Given the description of an element on the screen output the (x, y) to click on. 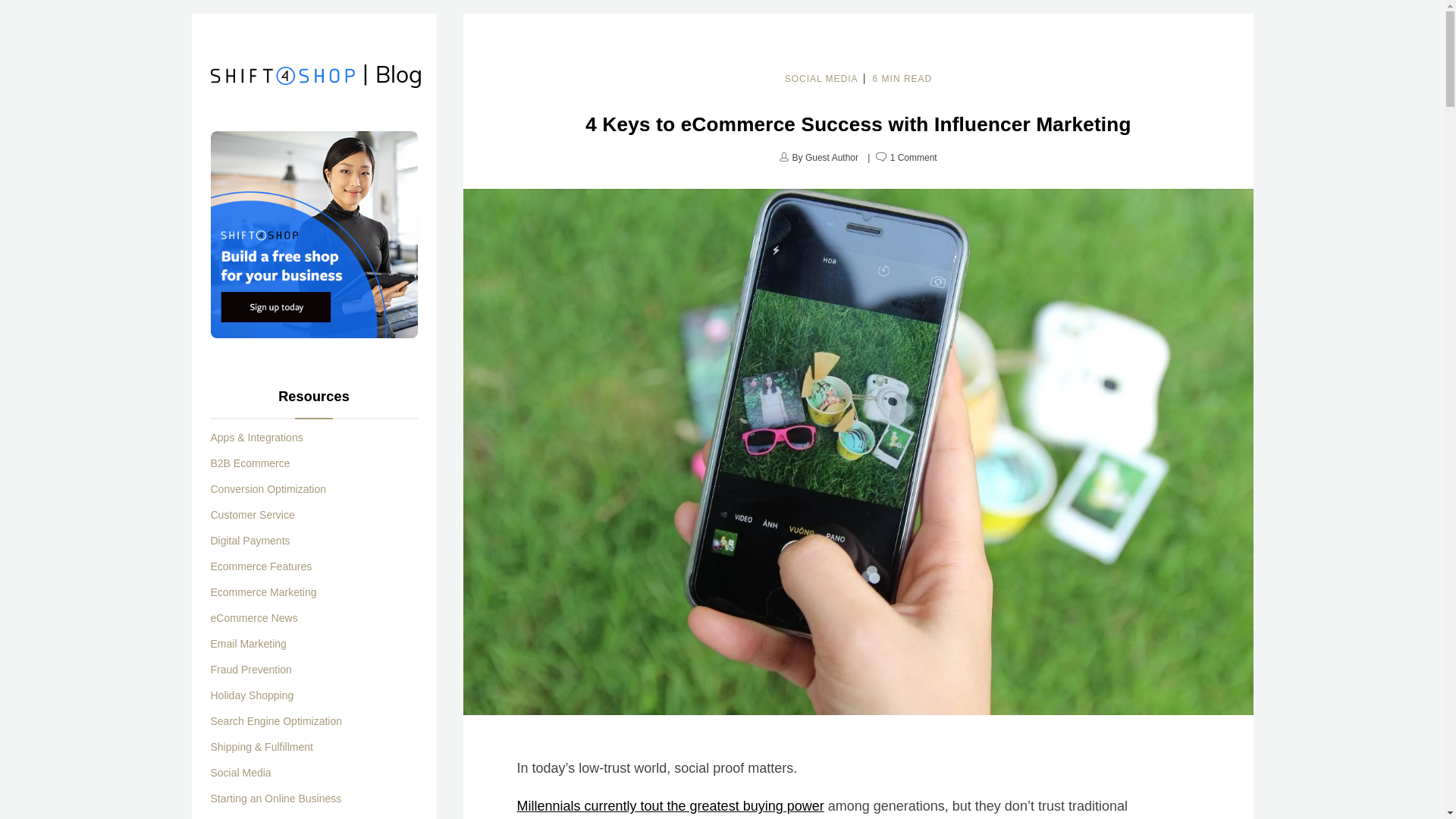
SOCIAL MEDIA Element type: text (821, 78)
Guest Author Element type: text (831, 157)
B2B Ecommerce Element type: text (250, 463)
Conversion Optimization Element type: text (268, 489)
Millennials currently tout the greatest buying power Element type: text (669, 805)
1 Comment Element type: text (913, 157)
Customer Service Element type: text (252, 514)
Search Engine Optimization Element type: text (276, 721)
Social Media Element type: text (240, 772)
Apps & Integrations Element type: text (256, 437)
eCommerce News Element type: text (254, 617)
Starting an Online Business Element type: text (276, 797)
Holiday Shopping Element type: text (252, 695)
Digital Payments Element type: text (250, 540)
Ecommerce Marketing Element type: text (263, 592)
|
Blog Element type: text (282, 77)
Fraud Prevention Element type: text (250, 669)
Ecommerce Features Element type: text (261, 566)
Shipping & Fulfillment Element type: text (261, 746)
Email Marketing Element type: text (248, 643)
